Given the description of an element on the screen output the (x, y) to click on. 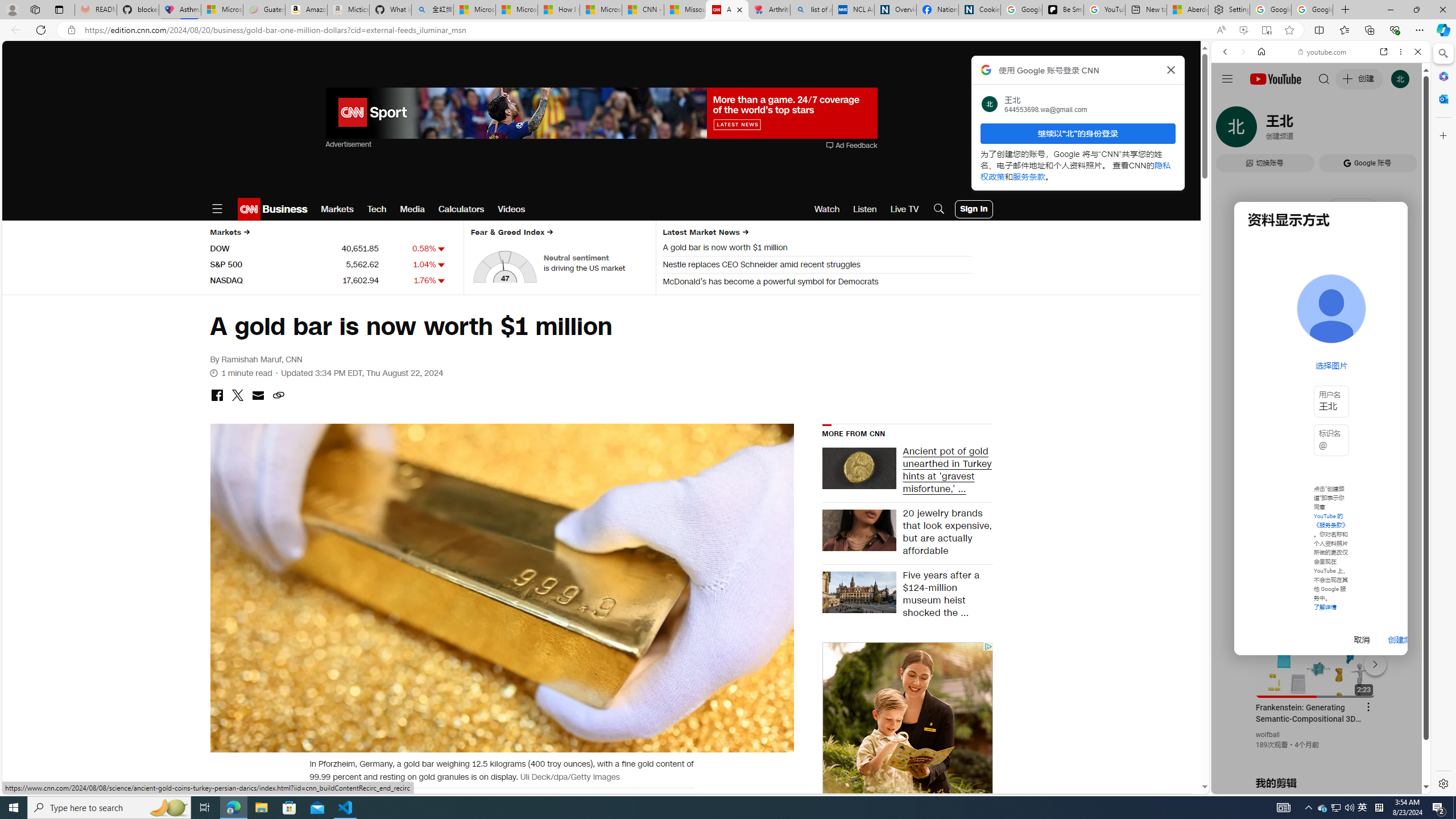
US[ju] (1249, 785)
Five years after a $124-million museum heist shocked the ... (943, 595)
YouTube - YouTube (1315, 560)
